Given the description of an element on the screen output the (x, y) to click on. 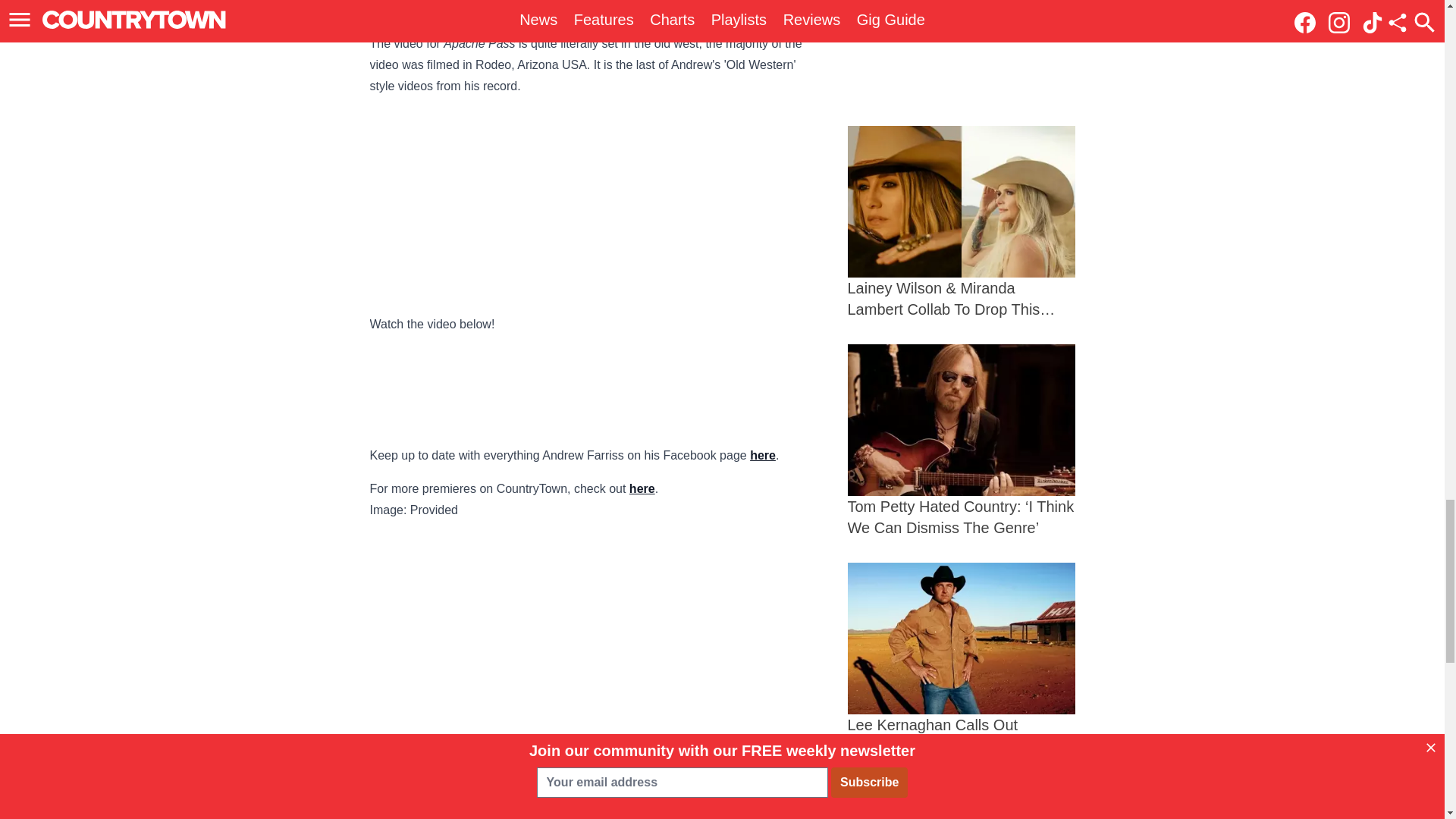
here (762, 454)
here (641, 488)
Lee Kernaghan Calls Out Government On Train Safety (961, 659)
